Given the description of an element on the screen output the (x, y) to click on. 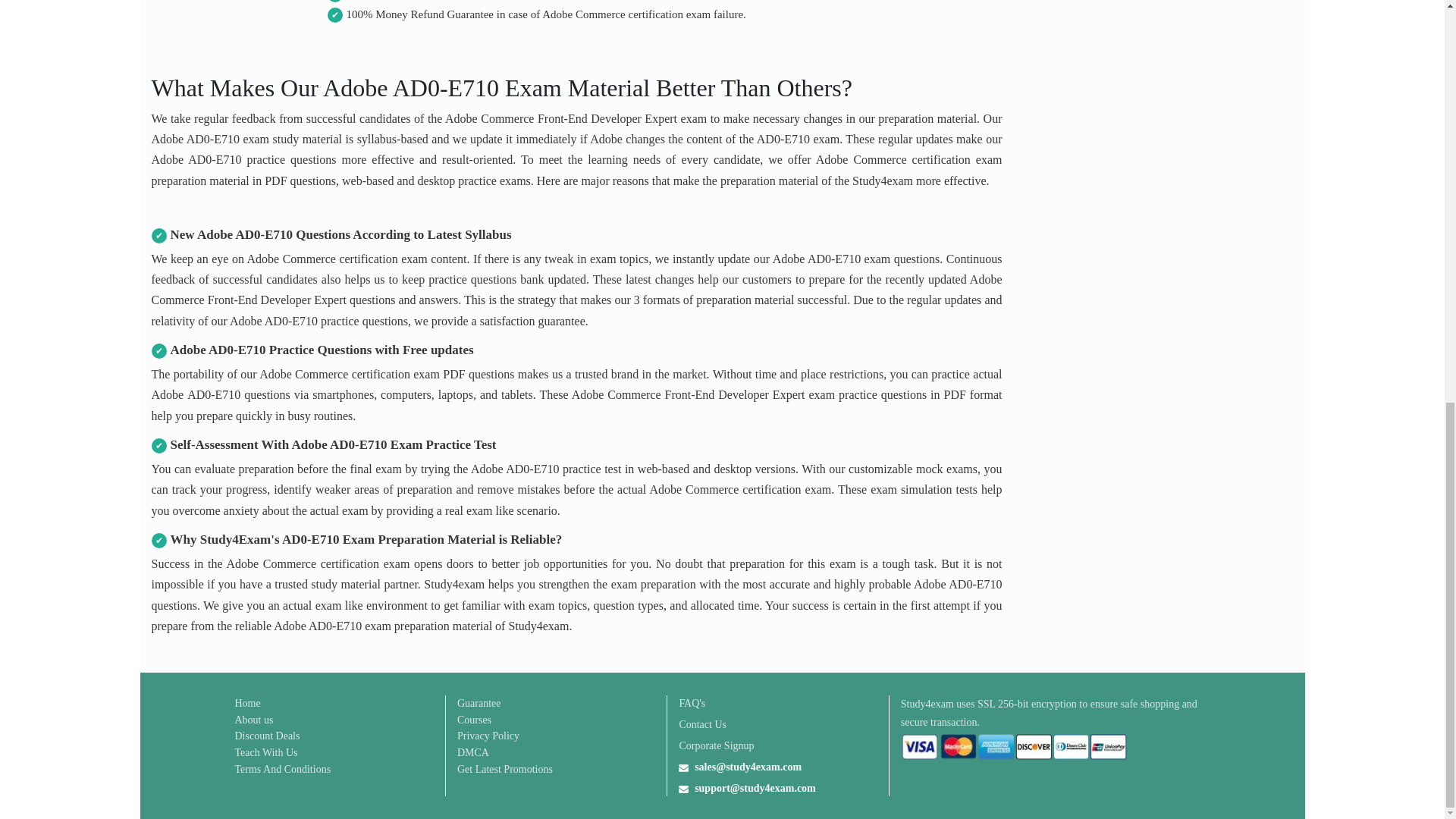
Terms And Conditions (282, 769)
FAQ's (691, 703)
Privacy Policy (488, 735)
Home (247, 703)
Corporate Signup (716, 745)
Teach With Us (266, 752)
Contact Us (702, 724)
Get Latest Promotions (505, 769)
DMCA (473, 752)
Discount Deals (266, 735)
